Given the description of an element on the screen output the (x, y) to click on. 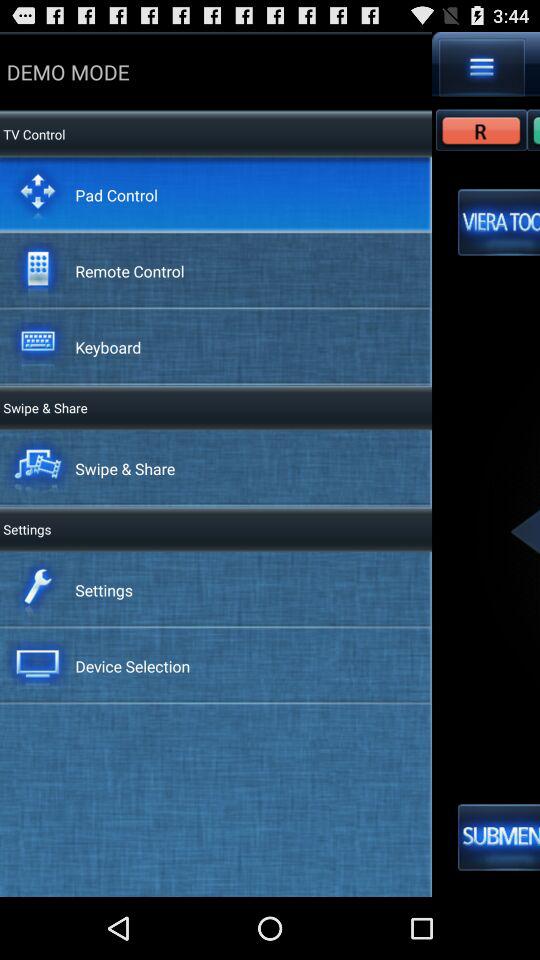
open the item above  swipe & share icon (108, 346)
